Given the description of an element on the screen output the (x, y) to click on. 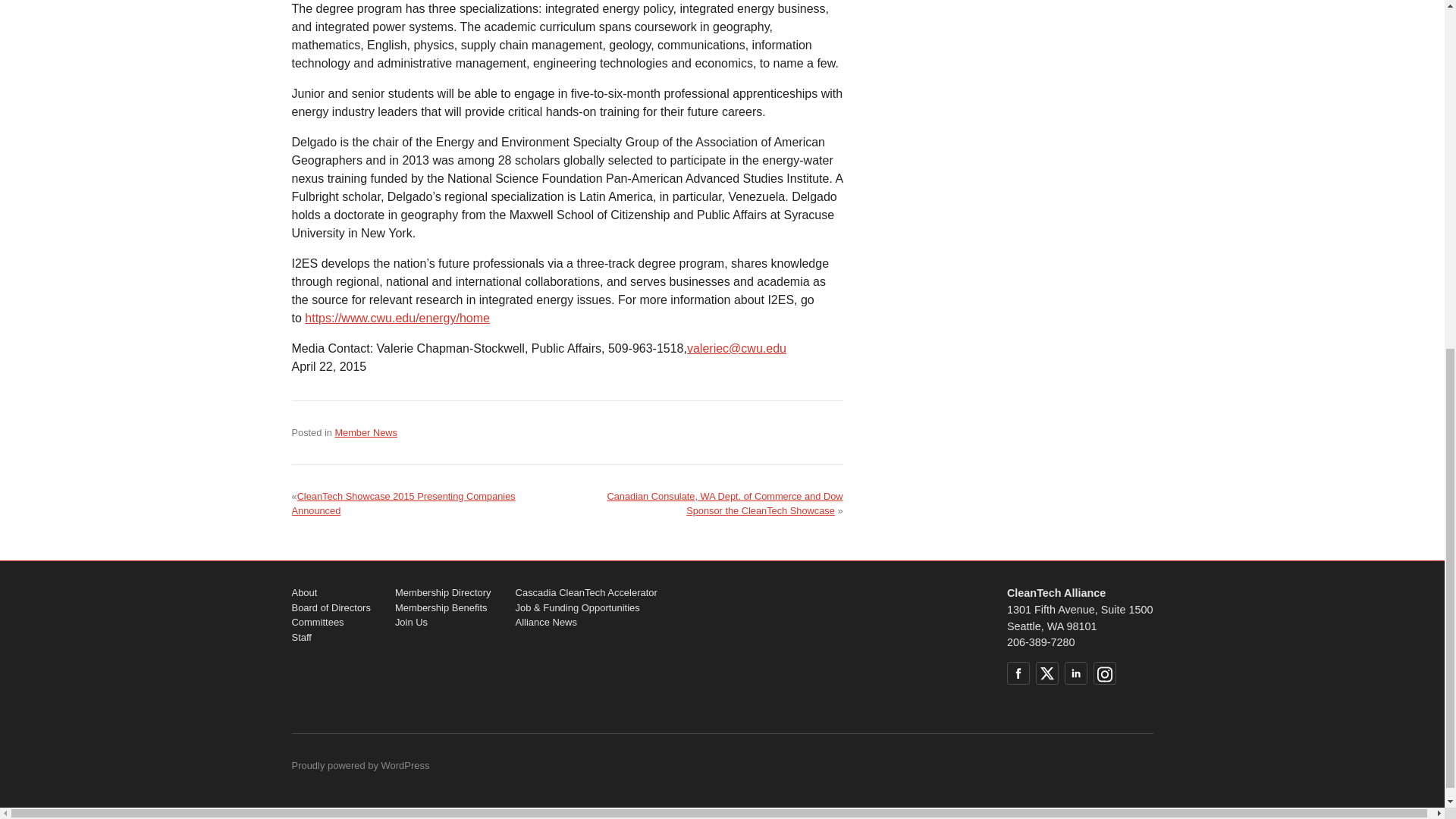
Vist CleanTech Alliance on Instagram (1104, 672)
Visit CleanTech Alliance on Facebook (1018, 672)
Vist CleanTech Alliance on LinkedIn (1075, 672)
Visit CleanTech Alliance on Twitter (1046, 672)
